Given the description of an element on the screen output the (x, y) to click on. 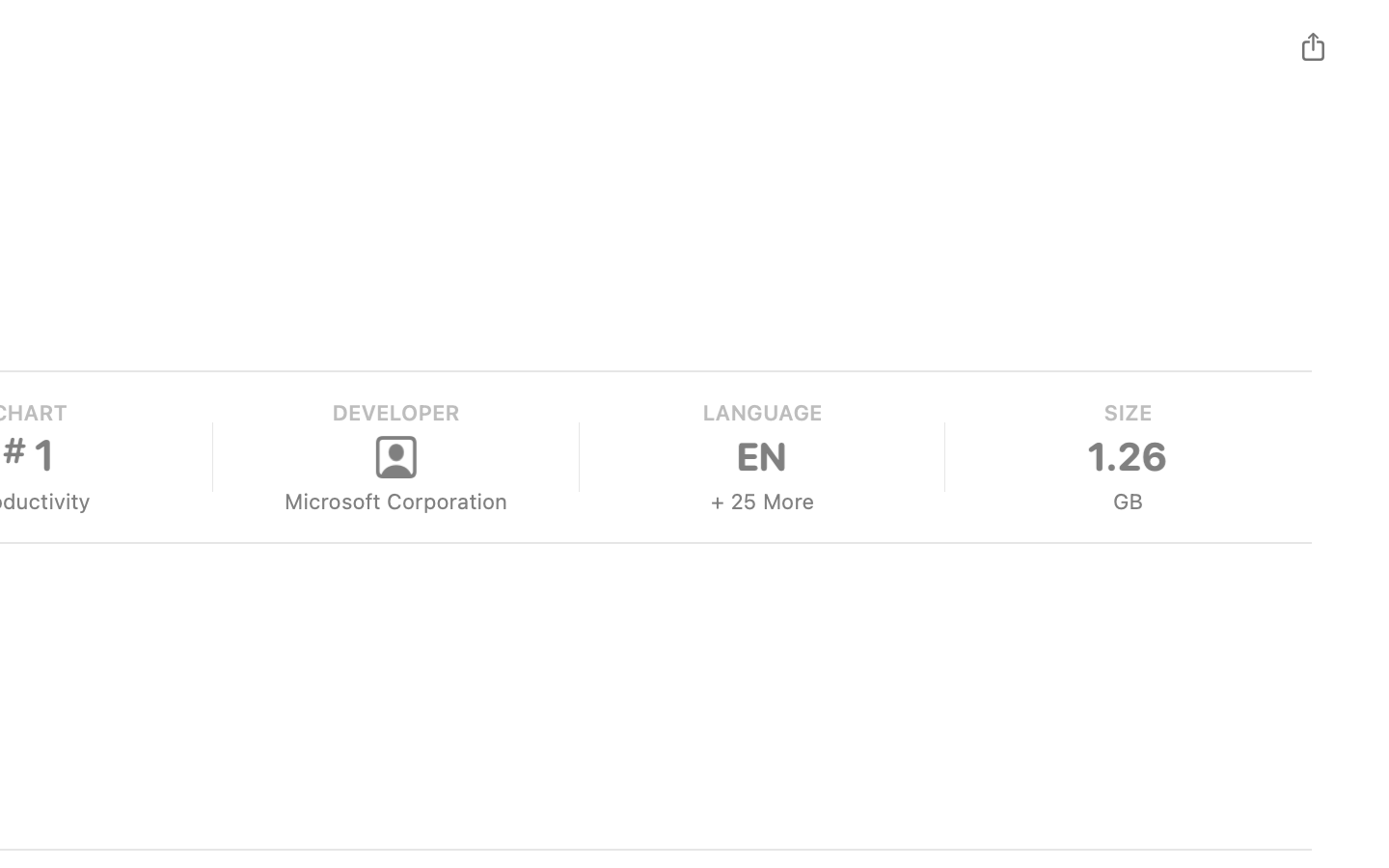
DEVELOPER Element type: AXStaticText (394, 412)
EN Element type: AXStaticText (760, 457)
